Given the description of an element on the screen output the (x, y) to click on. 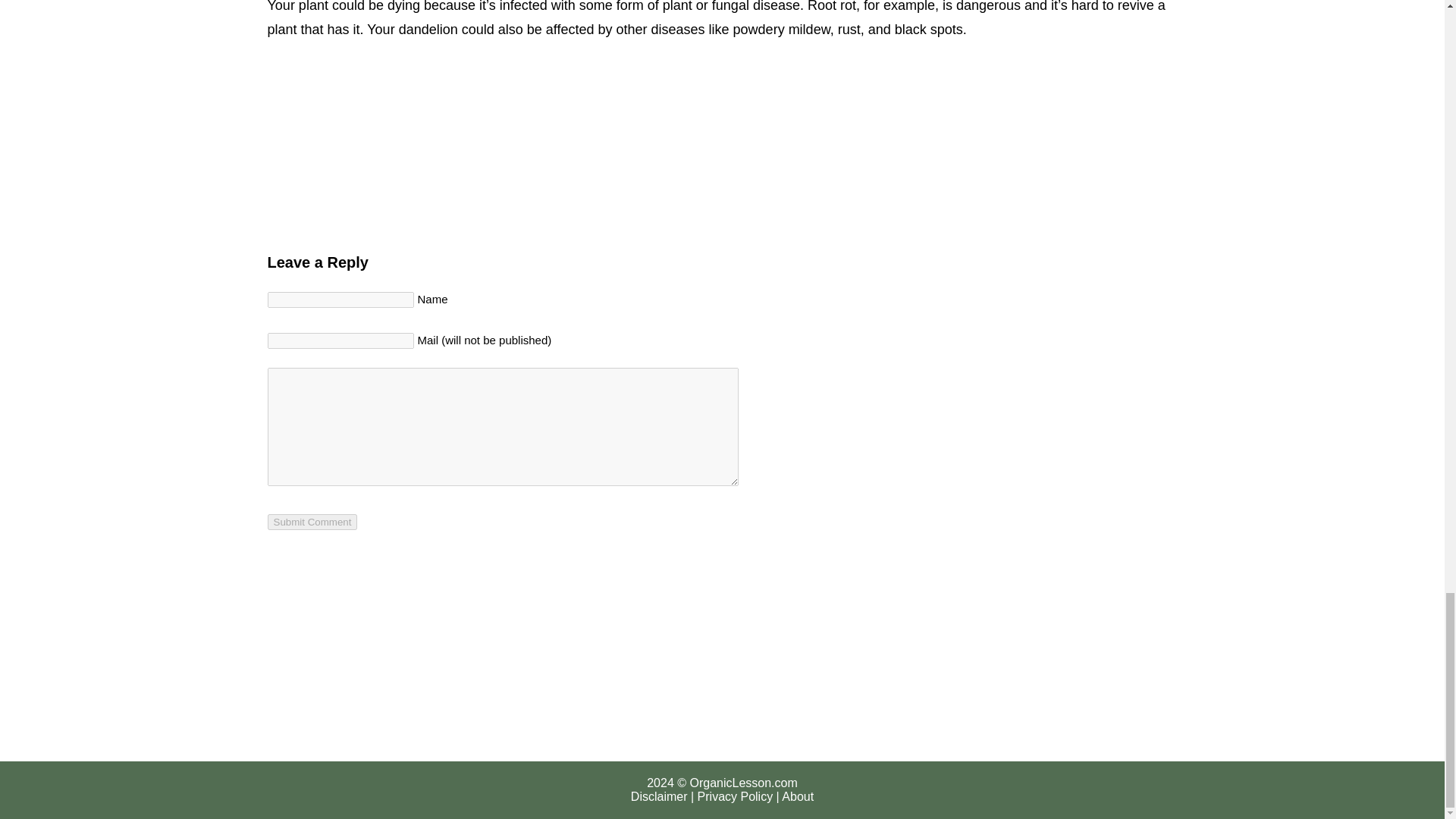
Disclaimer (658, 796)
Submit Comment (311, 521)
Submit Comment (311, 521)
Privacy Policy (735, 796)
About (797, 796)
